Given the description of an element on the screen output the (x, y) to click on. 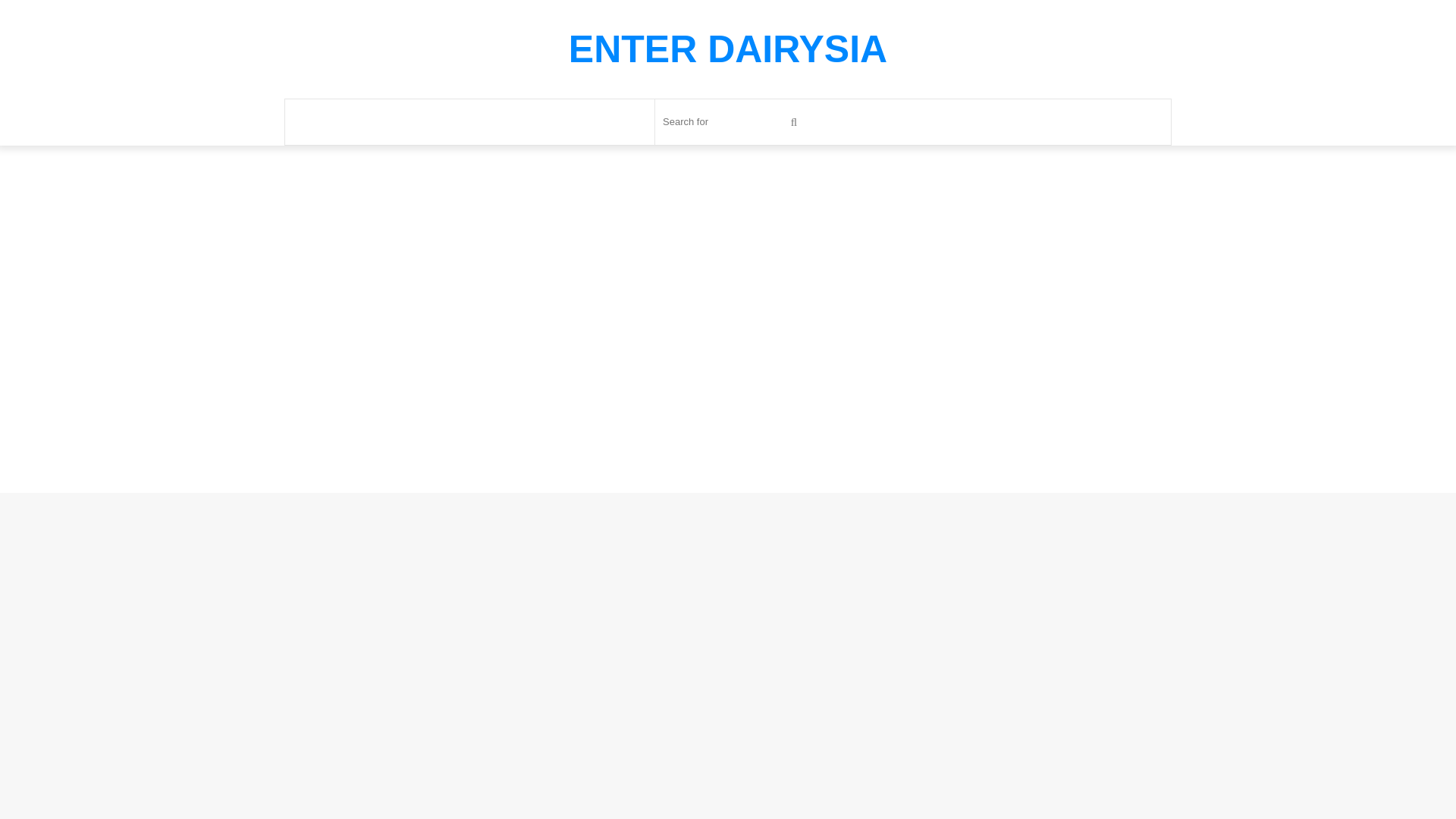
ENTER DAIRYSIA (727, 48)
Search for (793, 121)
Search for (732, 121)
ENTER DAIRYSIA (727, 48)
